Given the description of an element on the screen output the (x, y) to click on. 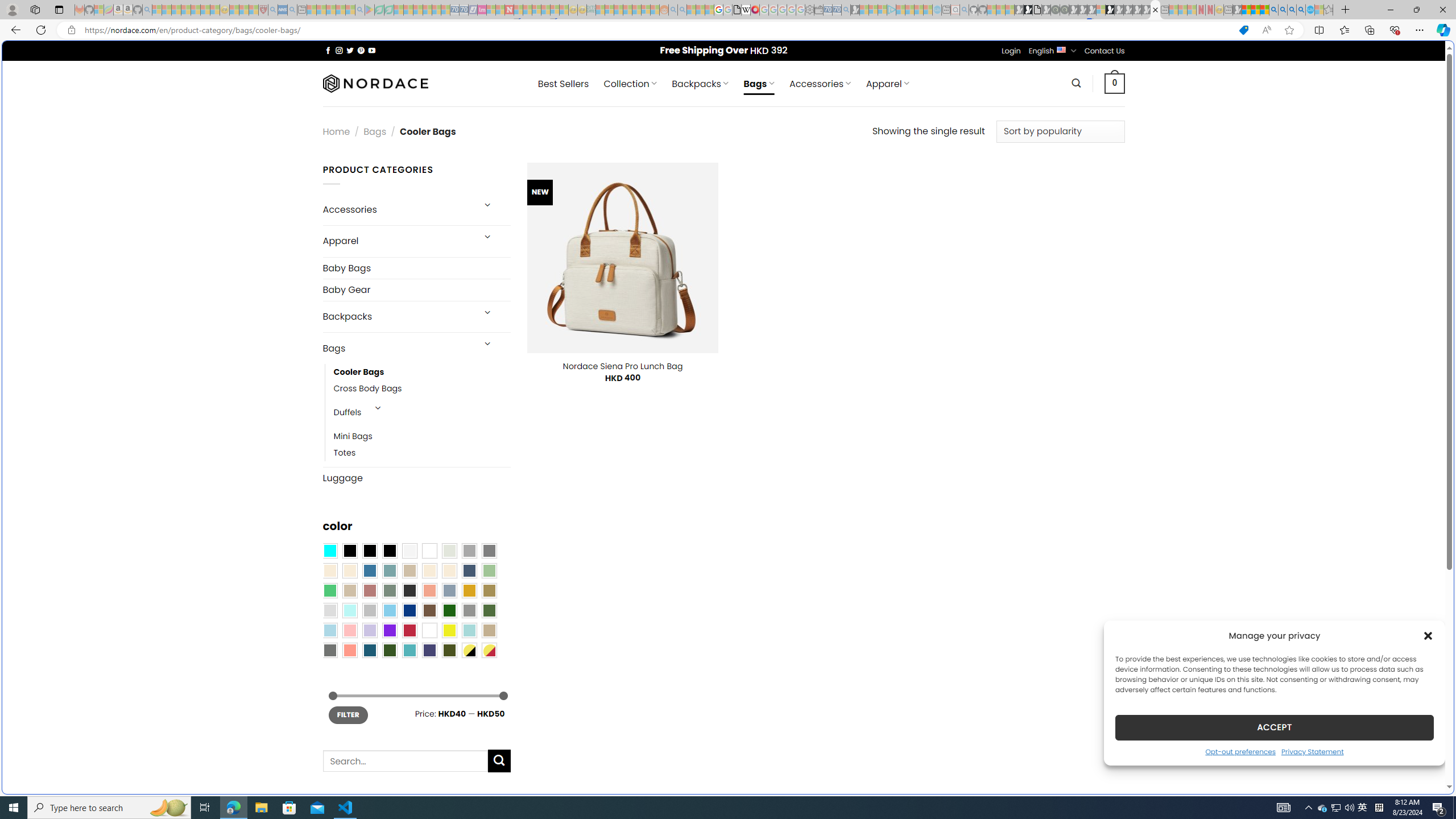
Accessories (397, 209)
Cream (449, 570)
Ash Gray (449, 550)
Pearly White (408, 550)
 0  (1115, 83)
